Given the description of an element on the screen output the (x, y) to click on. 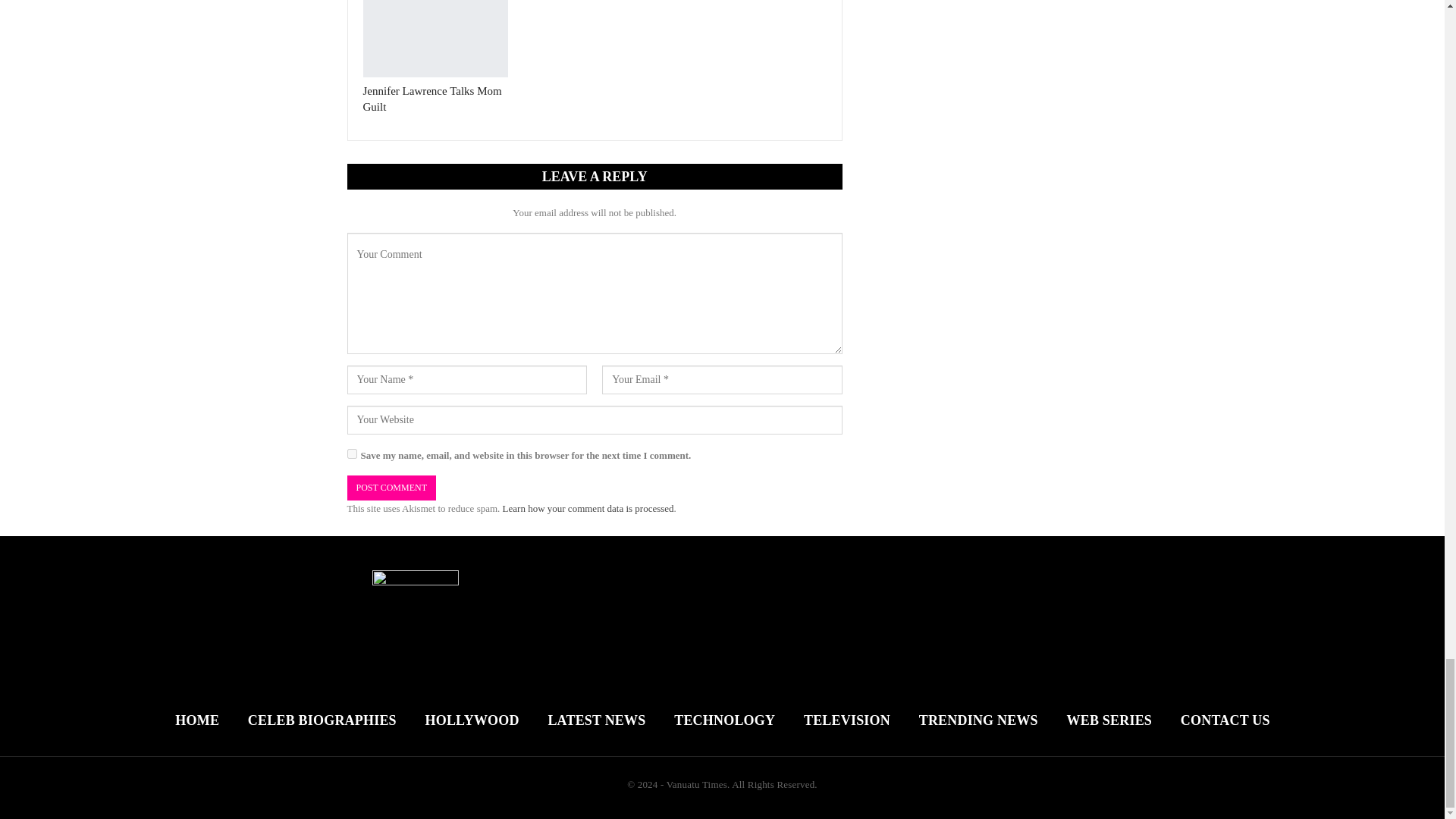
Post Comment (391, 487)
Jennifer Lawrence Talks Mom Guilt (431, 99)
Jennifer Lawrence Talks Mom Guilt (435, 38)
yes (351, 453)
